Given the description of an element on the screen output the (x, y) to click on. 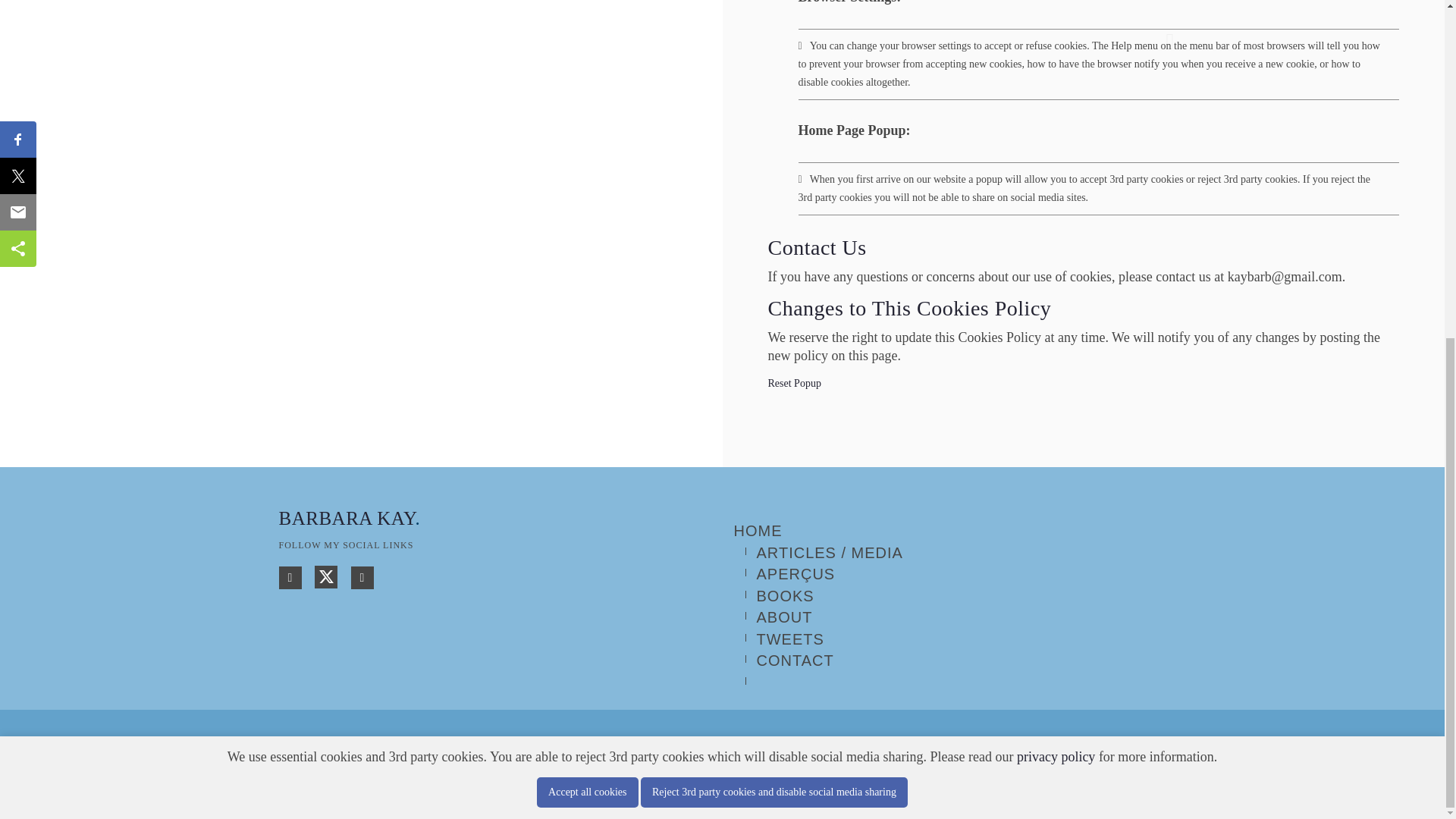
Reset Popup (794, 383)
Reject 3rd party cookies and disable social media sharing (773, 222)
BOOKS (785, 596)
Website:UndoLogic Solutions (557, 771)
TWEETS (790, 638)
HOME (758, 530)
CONTACT (795, 660)
BARBARA KAY. (349, 517)
privacy policy (1055, 186)
Barbarakay (334, 771)
Privacy Policy (678, 771)
ABOUT (784, 617)
Accept all cookies (587, 222)
